Given the description of an element on the screen output the (x, y) to click on. 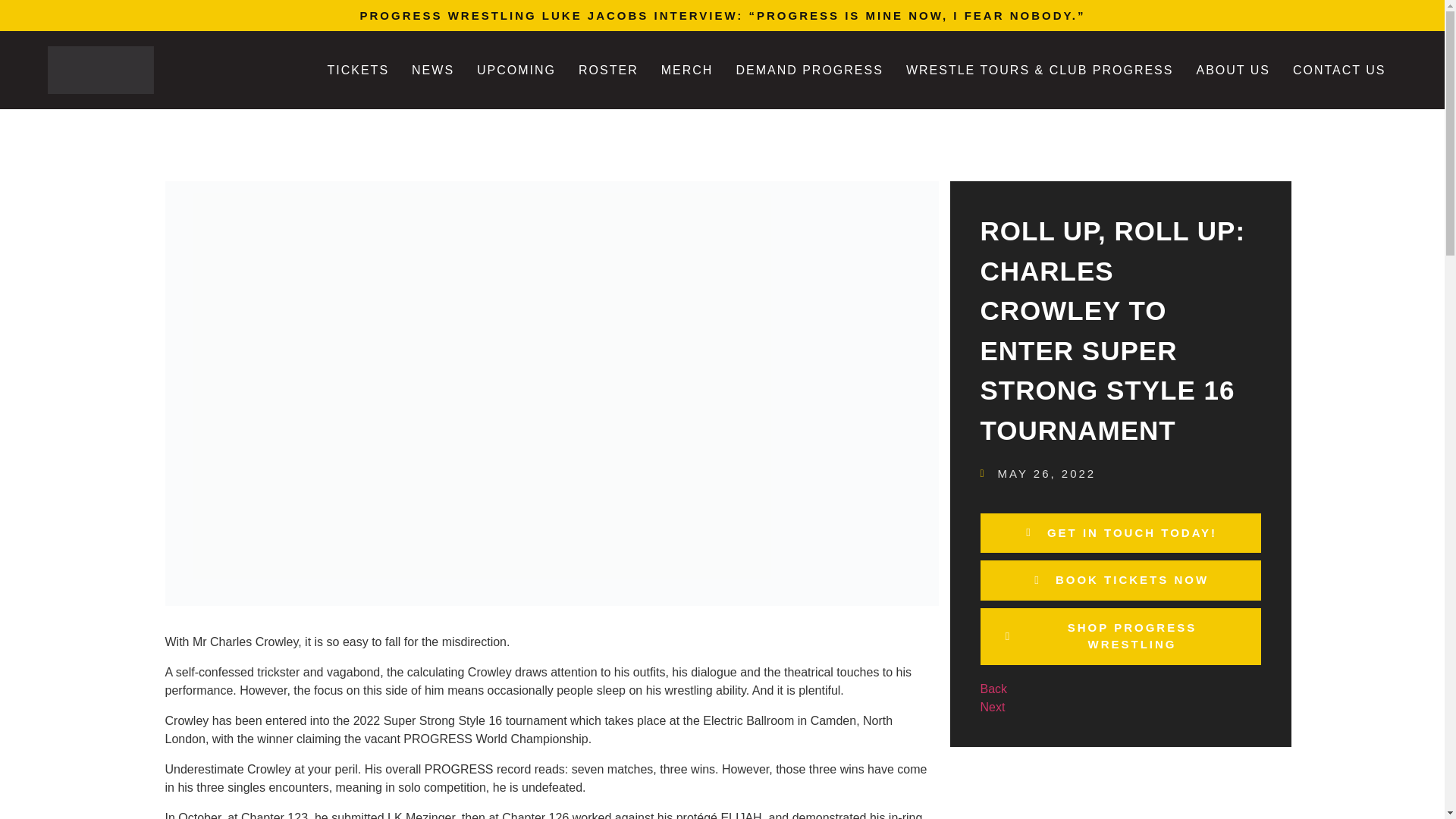
GET IN TOUCH TODAY! (1119, 533)
UPCOMING (516, 70)
TICKETS (357, 70)
Next (991, 707)
ROSTER (608, 70)
MAY 26, 2022 (1037, 474)
SHOP PROGRESS WRESTLING (1119, 636)
DEMAND PROGRESS (808, 70)
NEWS (432, 70)
